Given the description of an element on the screen output the (x, y) to click on. 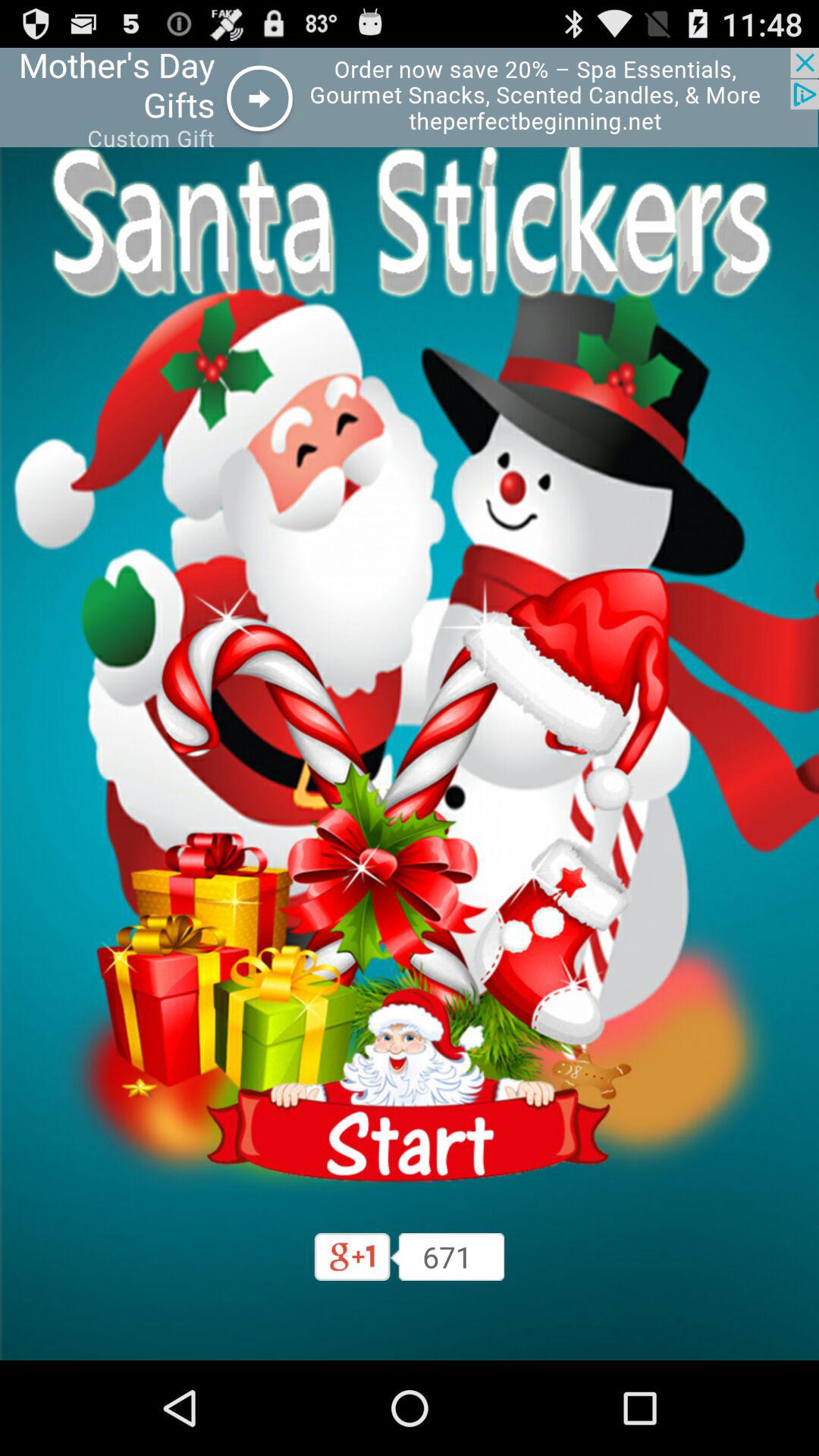
advertisement (409, 97)
